Given the description of an element on the screen output the (x, y) to click on. 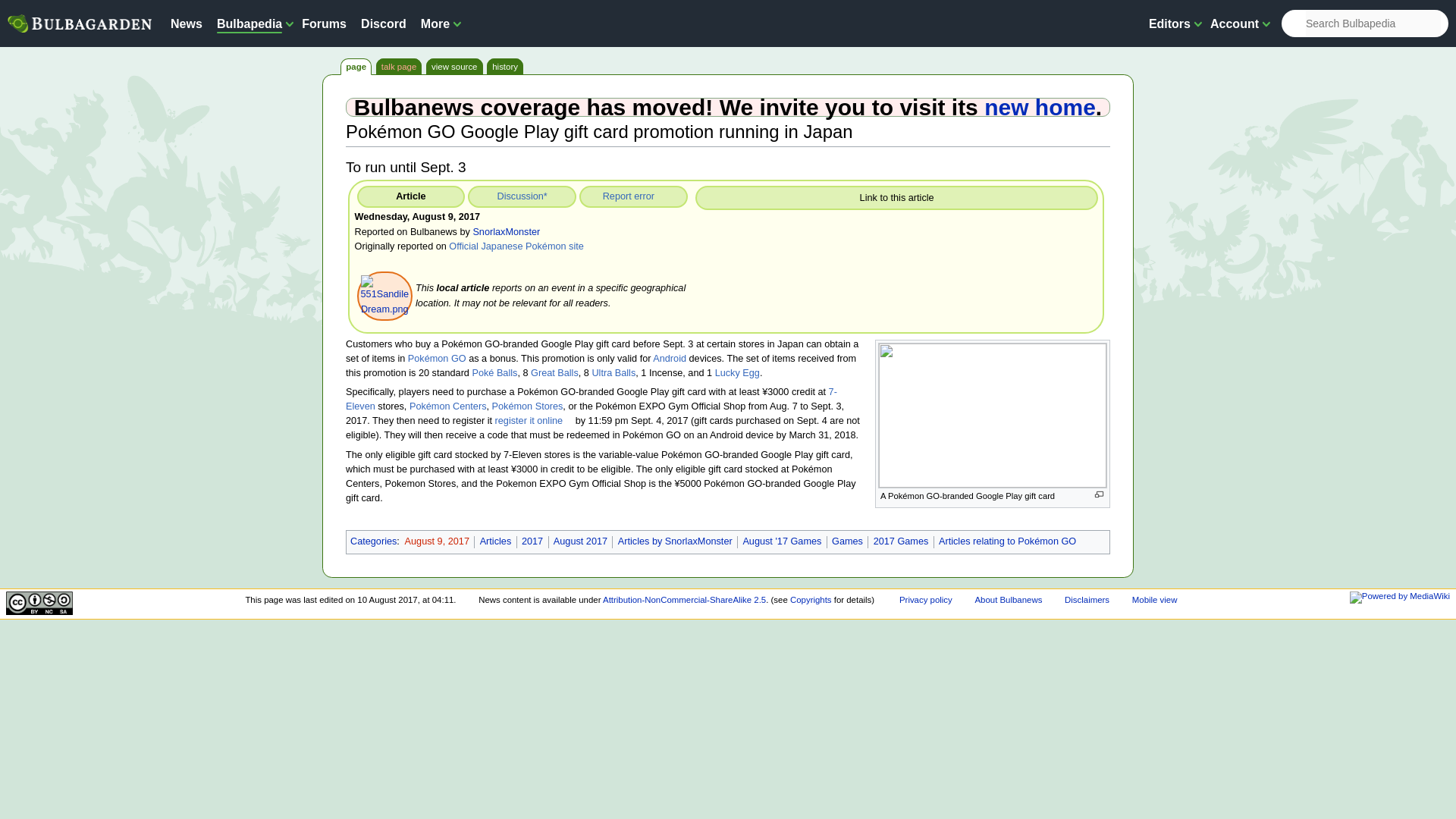
bp:Ultra Ball (612, 372)
User:SnorlaxMonster (505, 231)
bp:Lucky Egg (737, 372)
Category:Articles (496, 541)
Bulbapedia (249, 22)
Special:Categories (373, 541)
bp:Great Ball (554, 372)
wp:7-Eleven (591, 398)
Enlarge (1099, 494)
Category:2017 (532, 541)
